Given the description of an element on the screen output the (x, y) to click on. 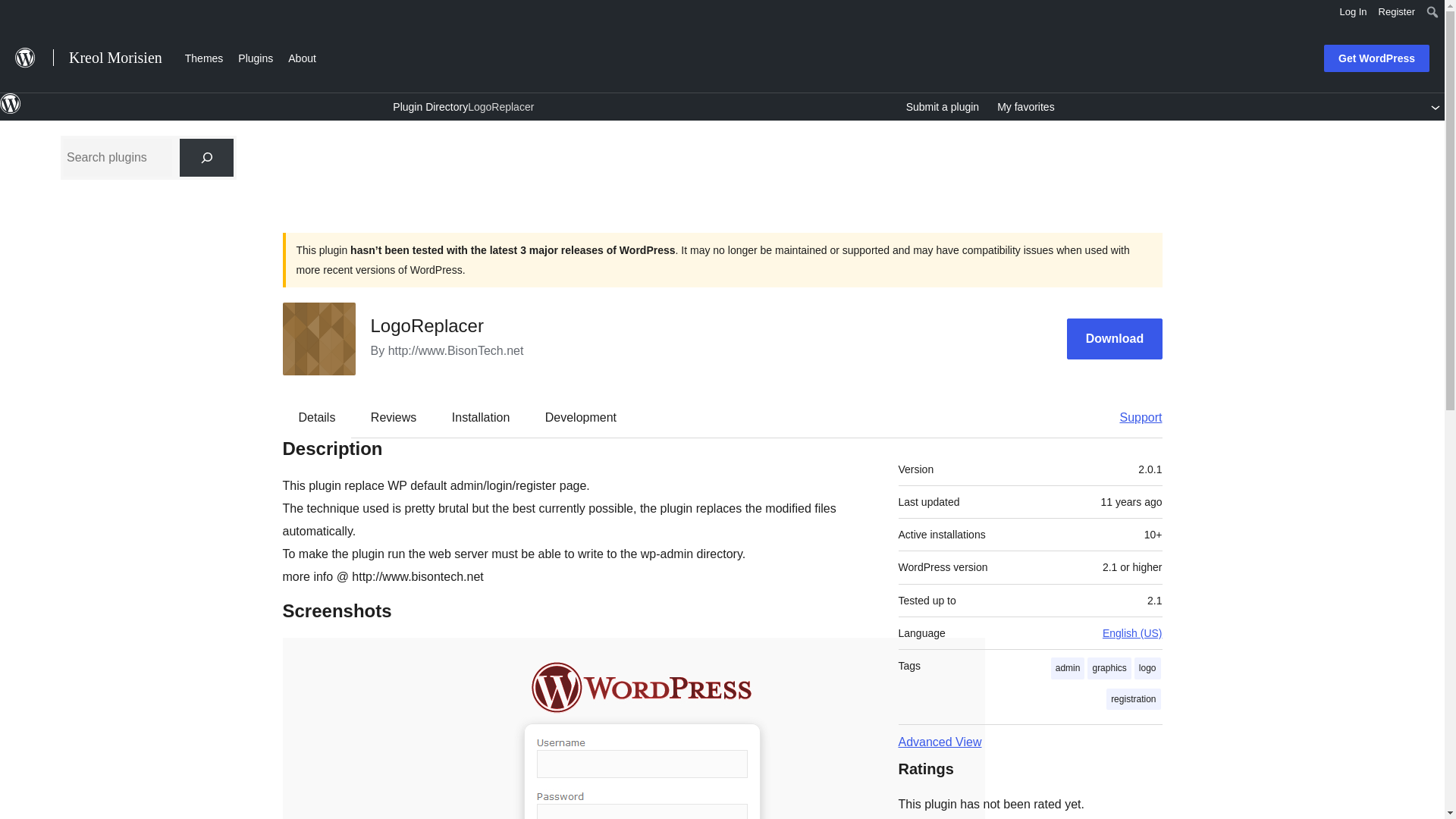
Get WordPress (1376, 58)
Submit a plugin (942, 107)
Development (580, 417)
My favorites (1025, 107)
admin (1067, 668)
Details (316, 417)
WordPress.org (10, 103)
WordPress.org (10, 110)
Search (16, 13)
LogoReplacer (500, 106)
Register (1397, 12)
Reviews (392, 417)
Log In (1353, 12)
Installation (480, 417)
Plugin Directory (430, 106)
